Given the description of an element on the screen output the (x, y) to click on. 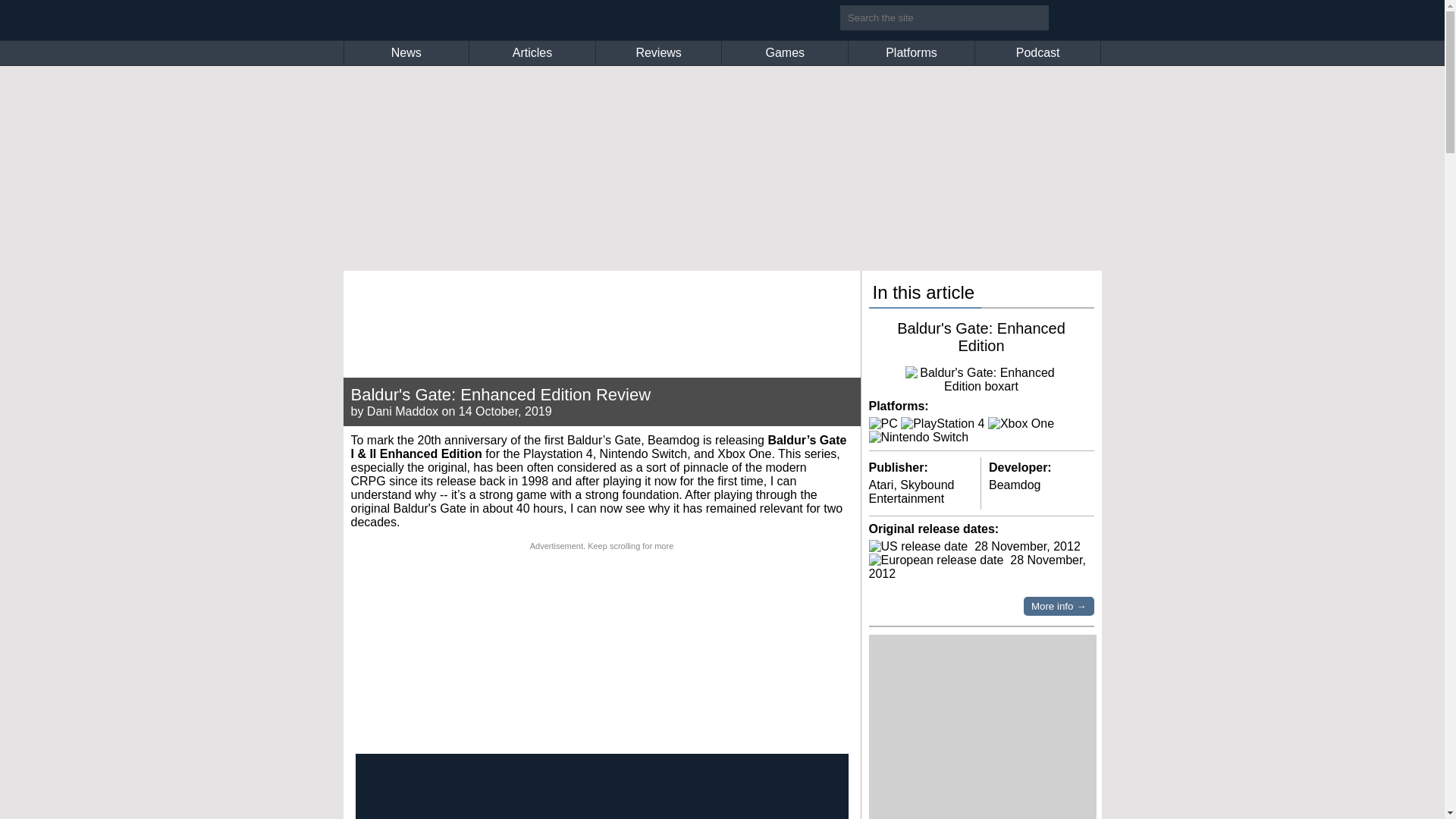
Reviews (658, 52)
Nintendo Switch (919, 437)
Platforms (911, 52)
PlayStation 4 (942, 423)
Xbox One (1021, 423)
Podcast (1037, 52)
PC (883, 423)
Baldur's Gate: Enhanced Edition (980, 336)
Articles (531, 52)
Games (784, 52)
